Given the description of an element on the screen output the (x, y) to click on. 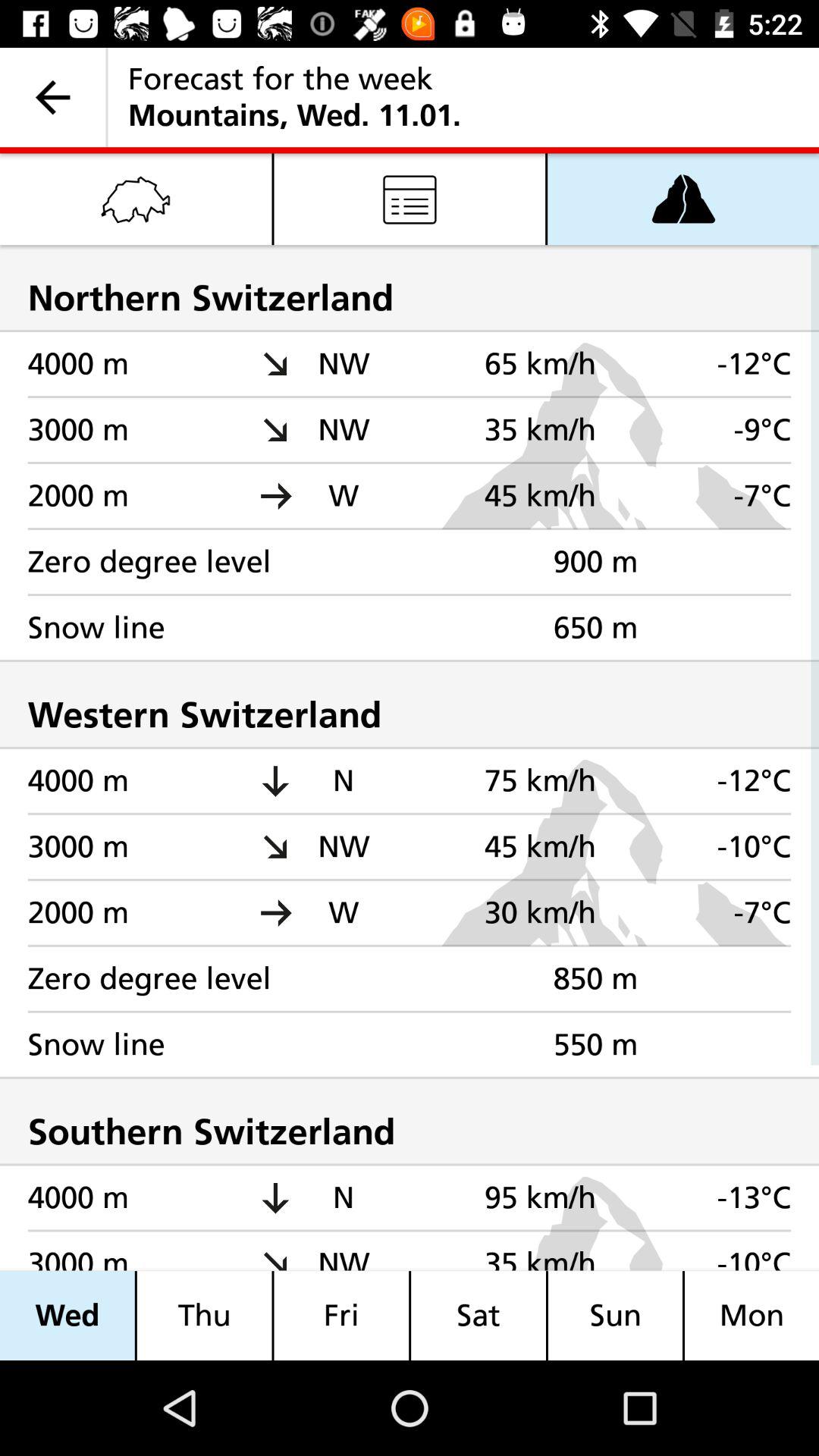
select mon item (751, 1315)
